Given the description of an element on the screen output the (x, y) to click on. 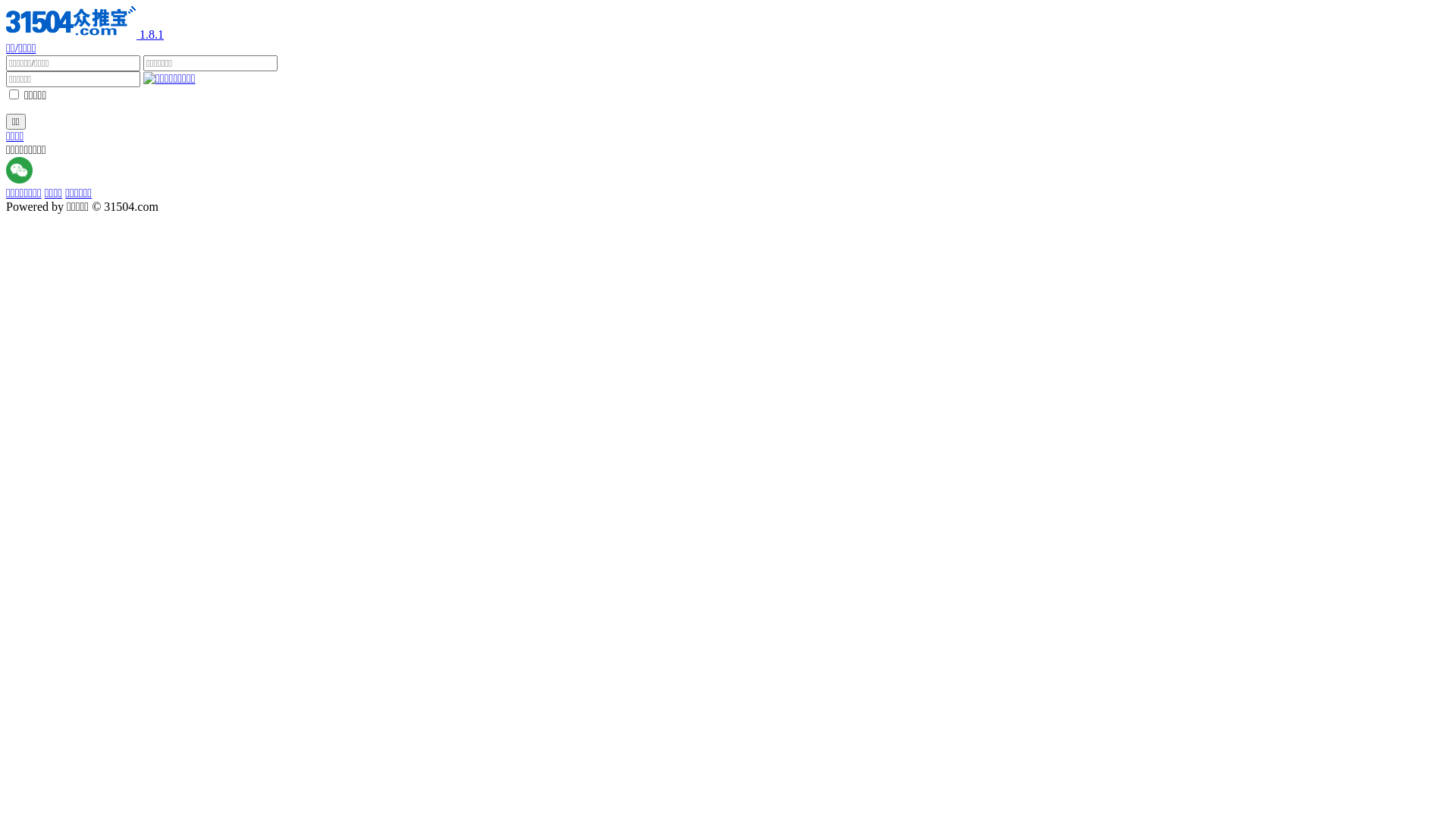
1.8.1 Element type: text (84, 34)
